Given the description of an element on the screen output the (x, y) to click on. 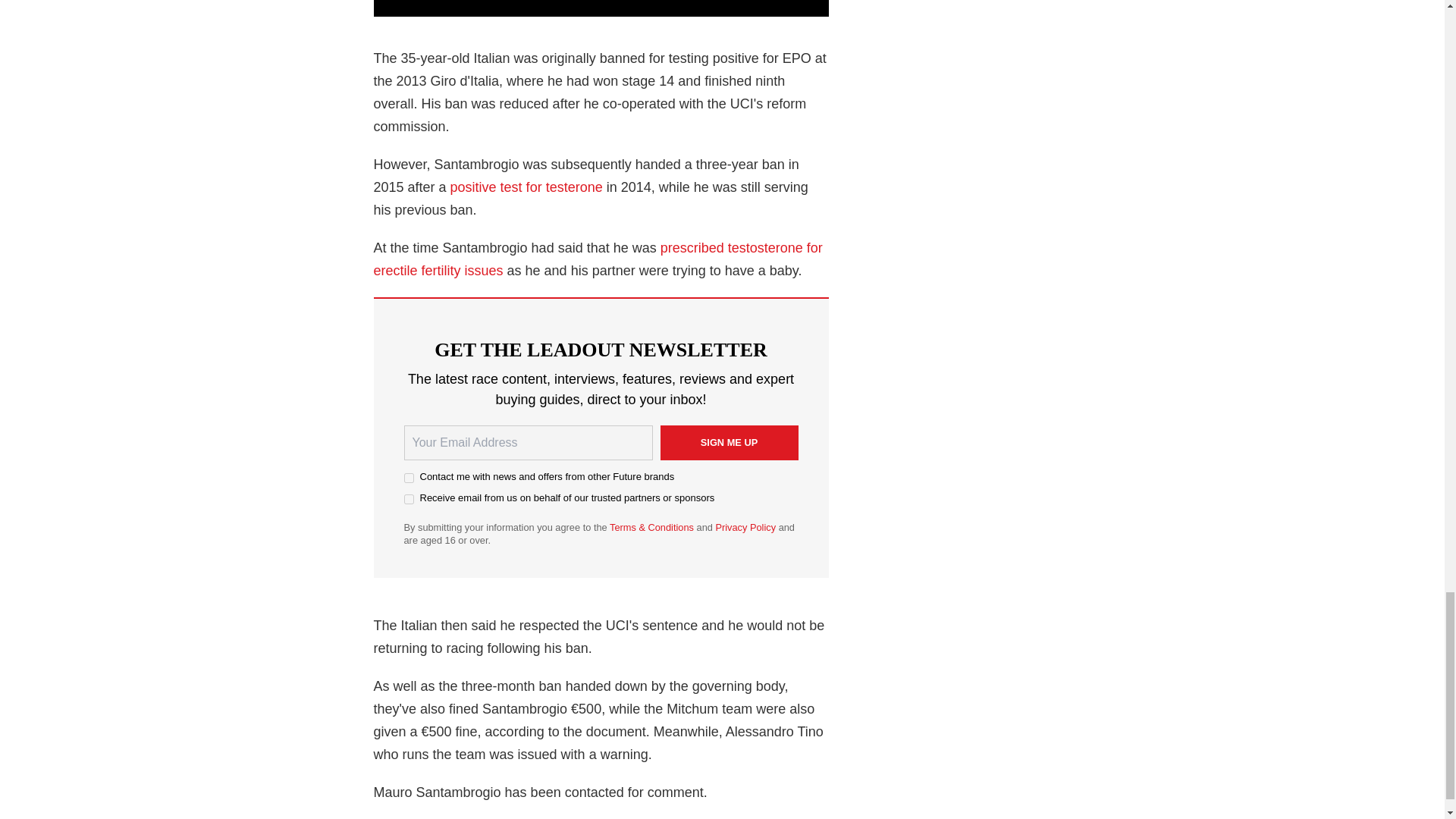
on (408, 478)
Sign me up (728, 442)
on (408, 499)
